Given the description of an element on the screen output the (x, y) to click on. 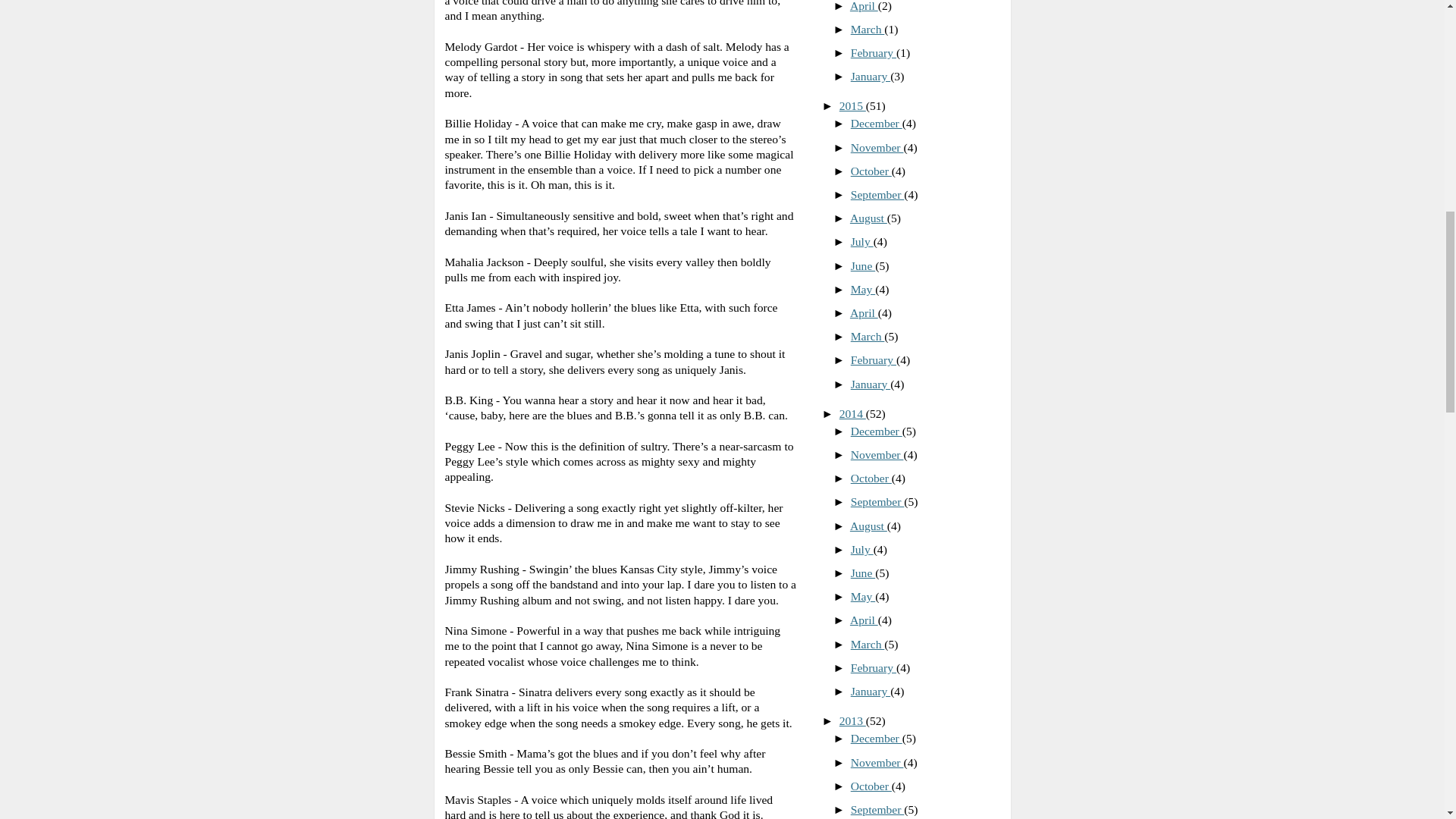
April (863, 6)
